Given the description of an element on the screen output the (x, y) to click on. 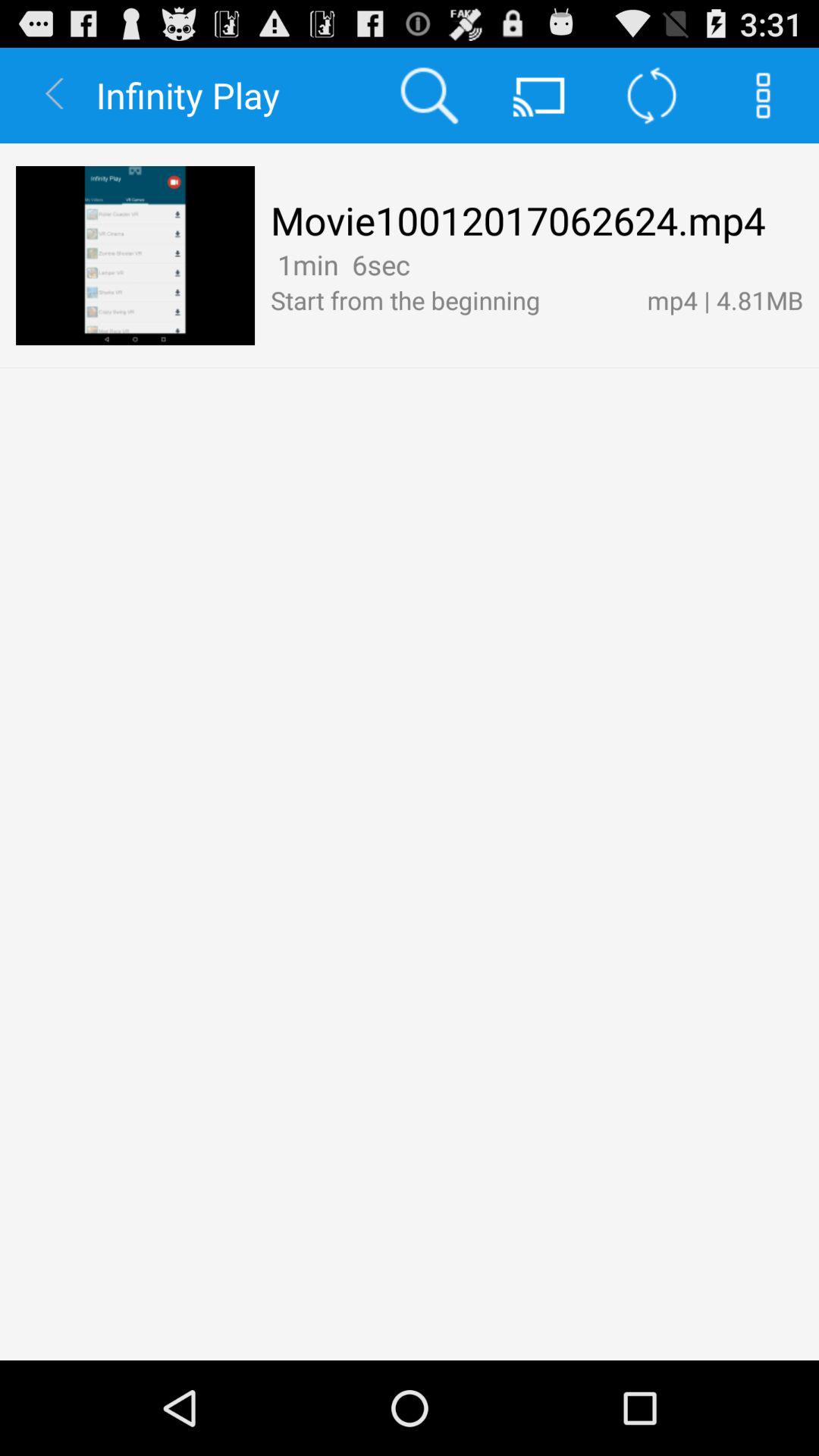
turn off the item next to the  1min  6sec (421, 264)
